Given the description of an element on the screen output the (x, y) to click on. 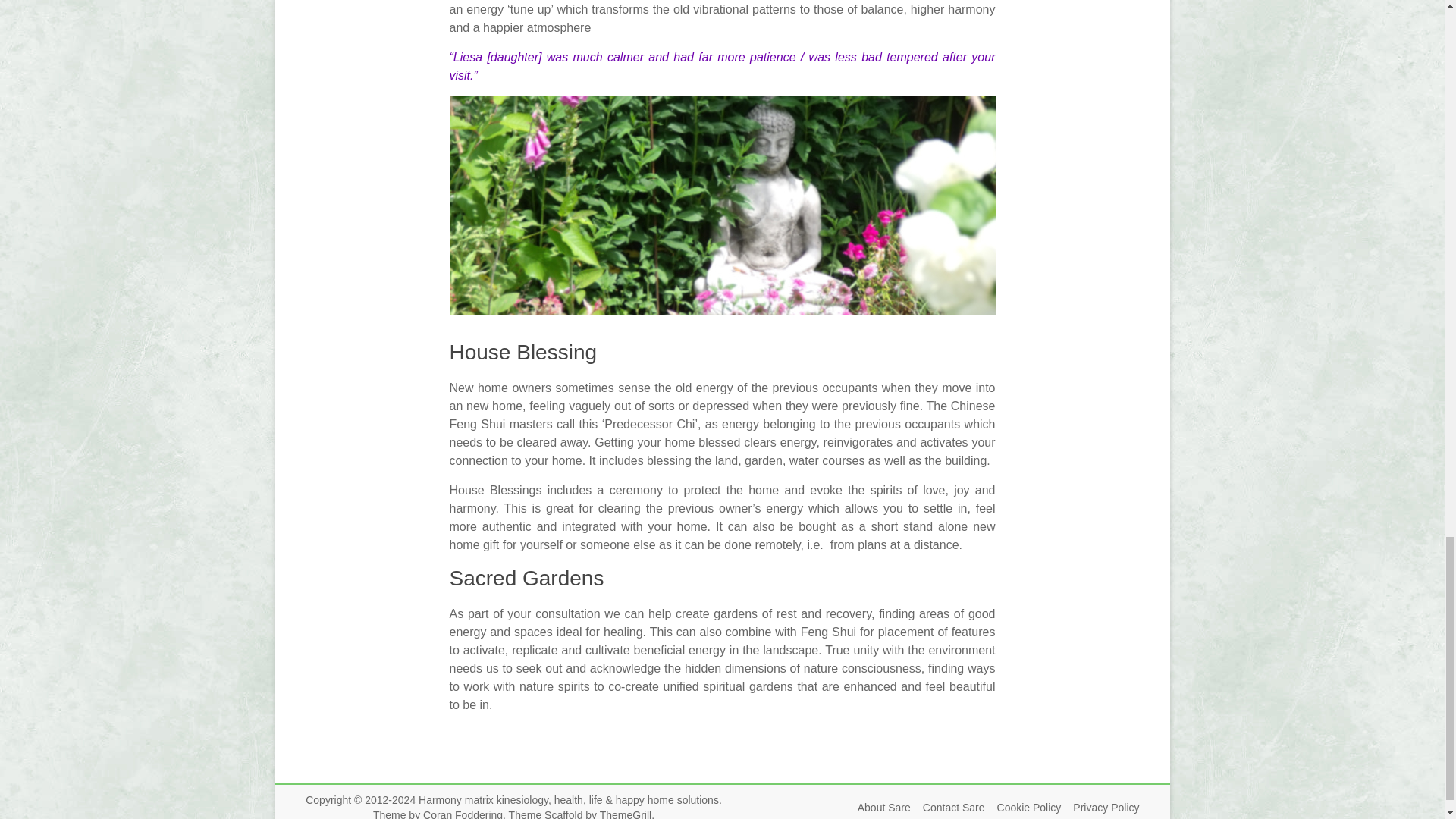
Privacy Policy (1099, 807)
Coran Foddering (462, 814)
Contact Sare (948, 807)
Cookie Policy (1023, 807)
ThemeGrill (624, 814)
Coran Foddering (462, 814)
ThemeGrill (624, 814)
About Sare (878, 807)
